Given the description of an element on the screen output the (x, y) to click on. 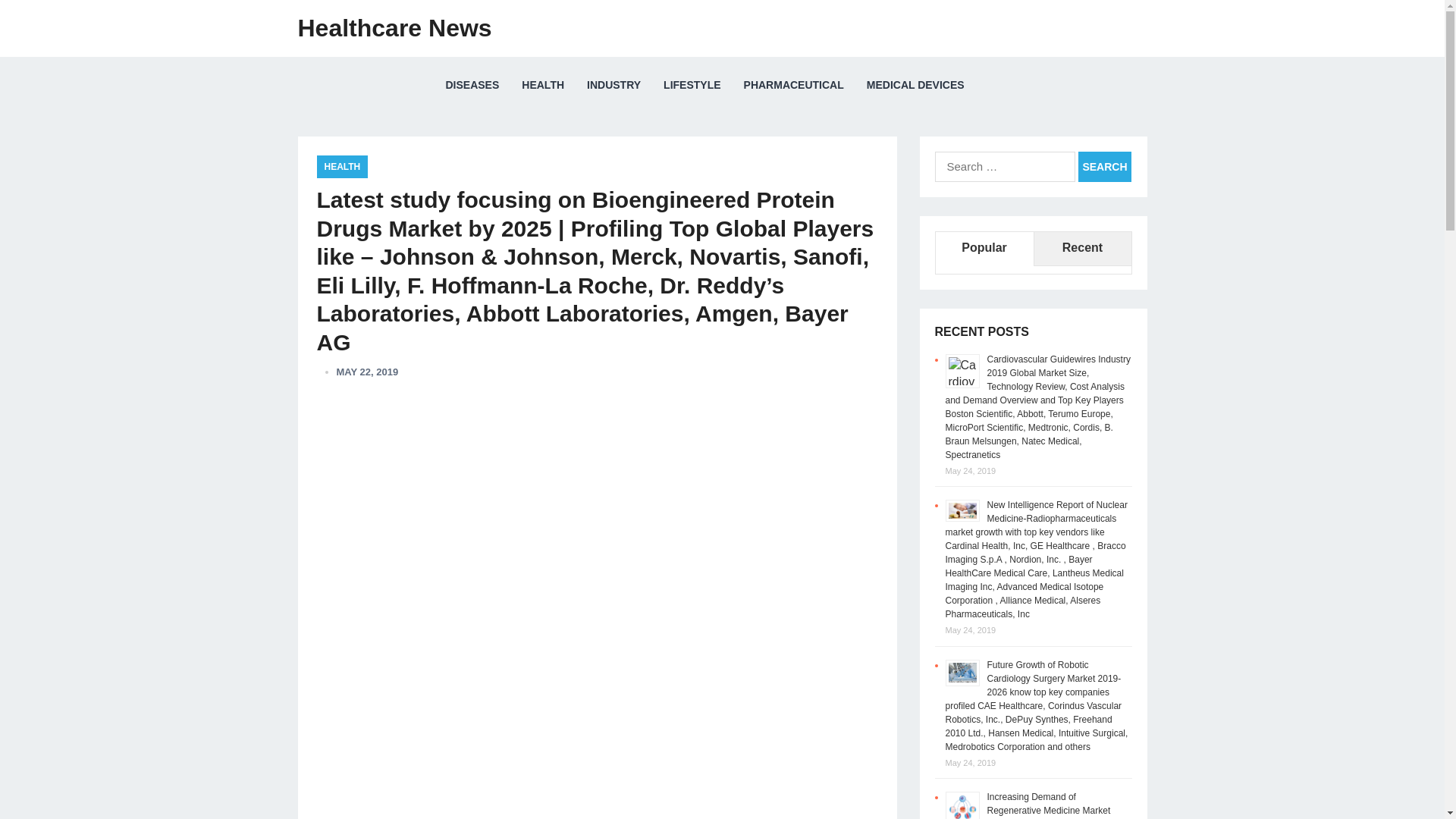
Healthcare News (394, 28)
INDUSTRY (613, 84)
View all posts in Health (342, 166)
Popular (984, 248)
Search (1104, 166)
MEDICAL DEVICES (915, 84)
DISEASES (472, 84)
HEALTH (342, 166)
LIFESTYLE (692, 84)
Recent (1081, 248)
